Given the description of an element on the screen output the (x, y) to click on. 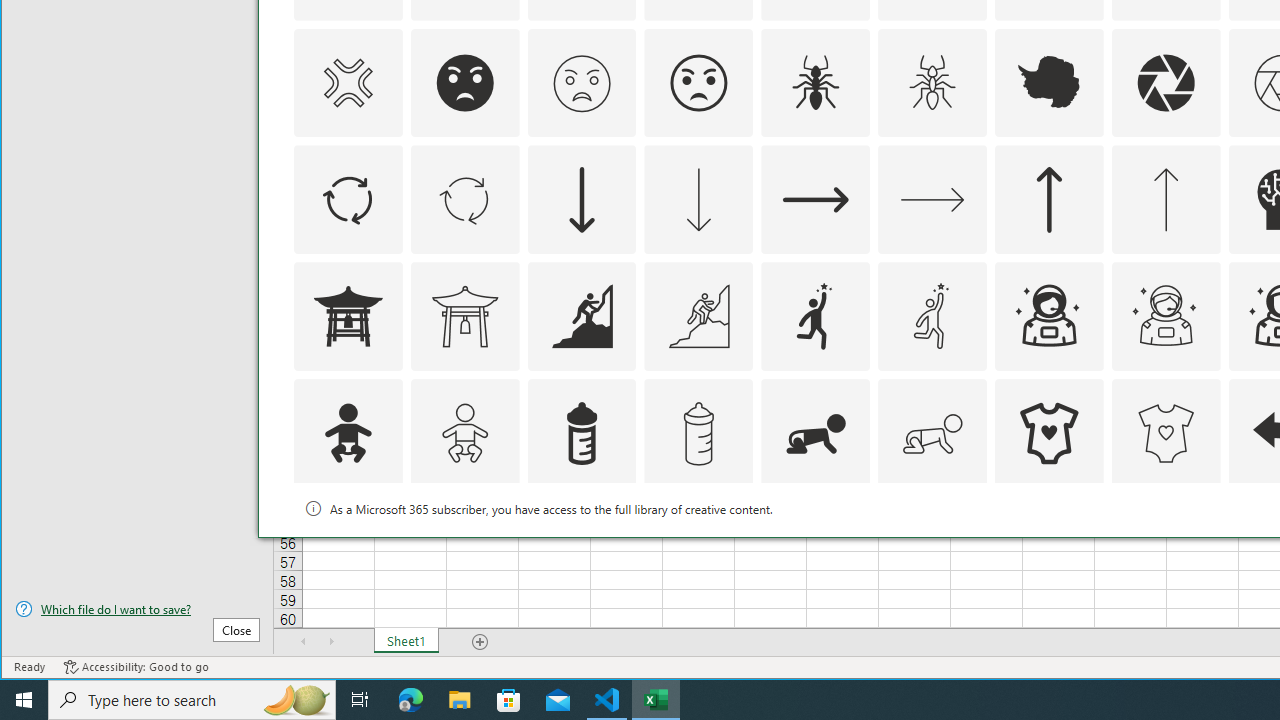
AutomationID: Icons_Aspiration1_M (932, 316)
AutomationID: Icons_Badge3_M (815, 550)
AutomationID: Icons_ArrowCircle_M (464, 200)
AutomationID: Icons_Badge4_M (1048, 550)
AutomationID: Icons_Badge2_M (582, 550)
AutomationID: Icons_ArrowUp_M (1165, 200)
